Given the description of an element on the screen output the (x, y) to click on. 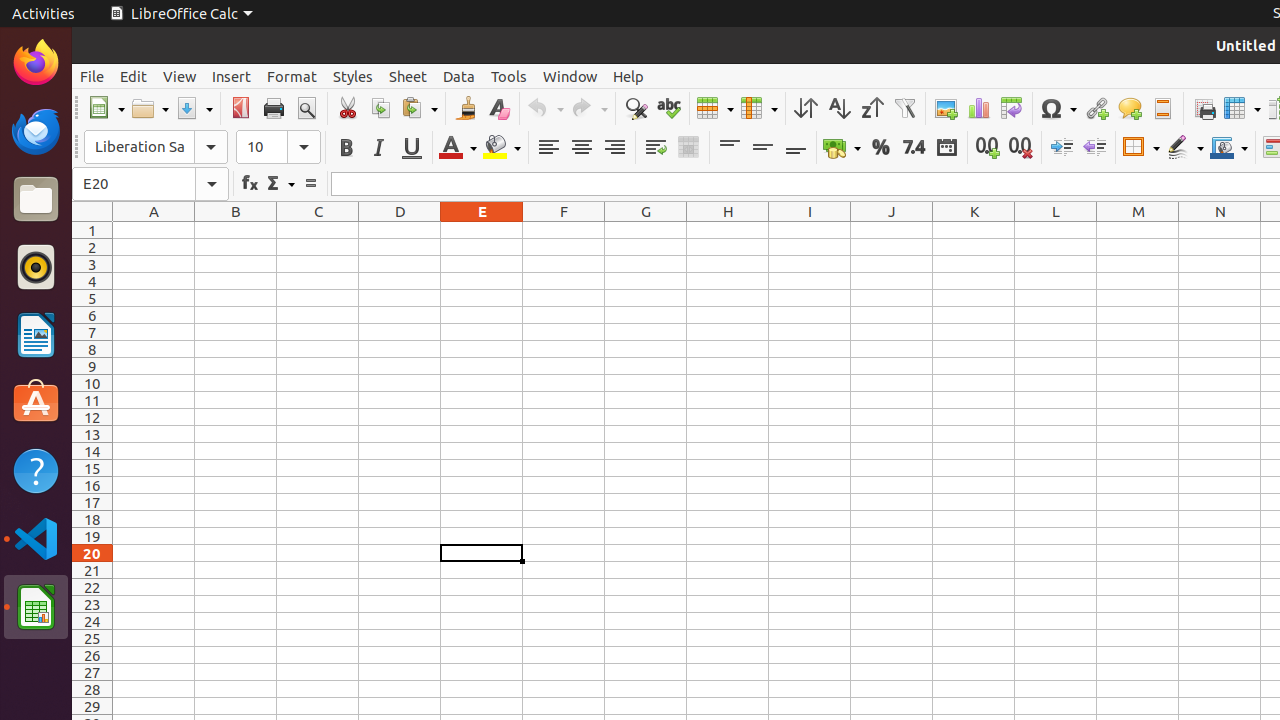
K1 Element type: table-cell (974, 230)
Visual Studio Code Element type: push-button (36, 538)
Select Function Element type: push-button (280, 183)
LibreOffice Calc Element type: menu (181, 13)
LibreOffice Calc Element type: push-button (36, 607)
